Given the description of an element on the screen output the (x, y) to click on. 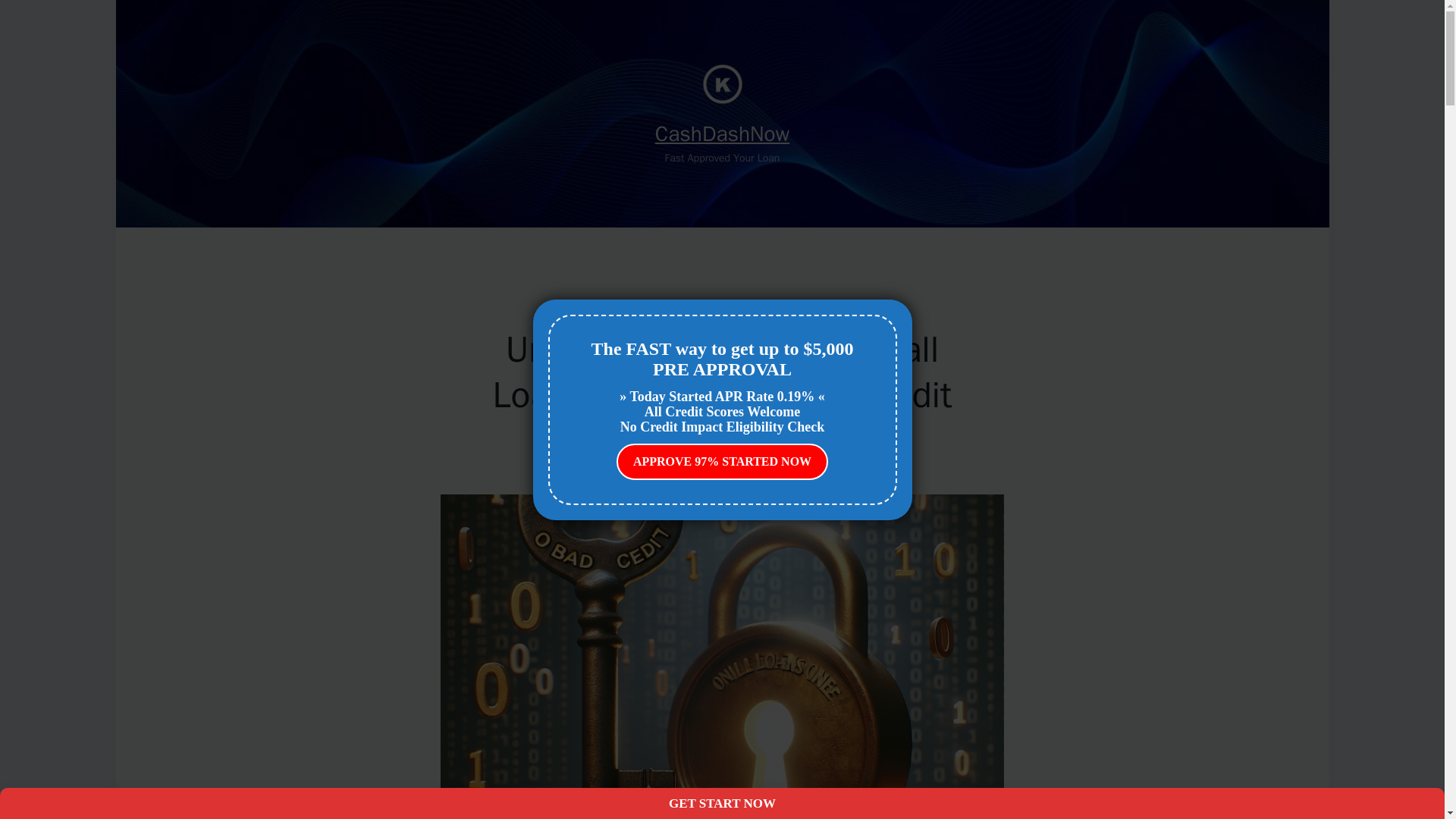
OfferLoans (722, 310)
Feb 18, 2024 (759, 441)
CashDashNow (722, 132)
Jessica Roberts (688, 441)
